Given the description of an element on the screen output the (x, y) to click on. 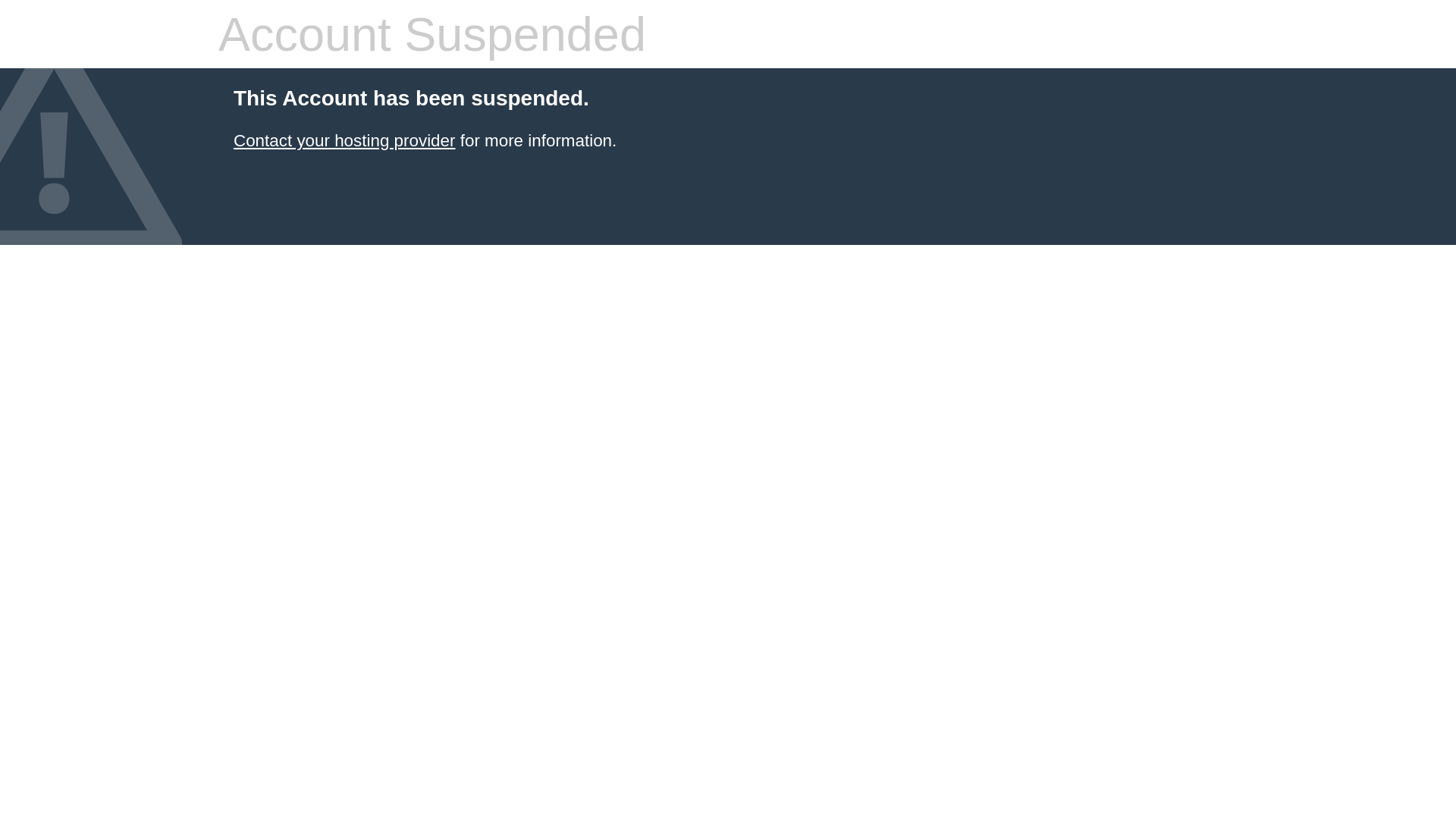
Contact your hosting provider Element type: text (344, 140)
